Given the description of an element on the screen output the (x, y) to click on. 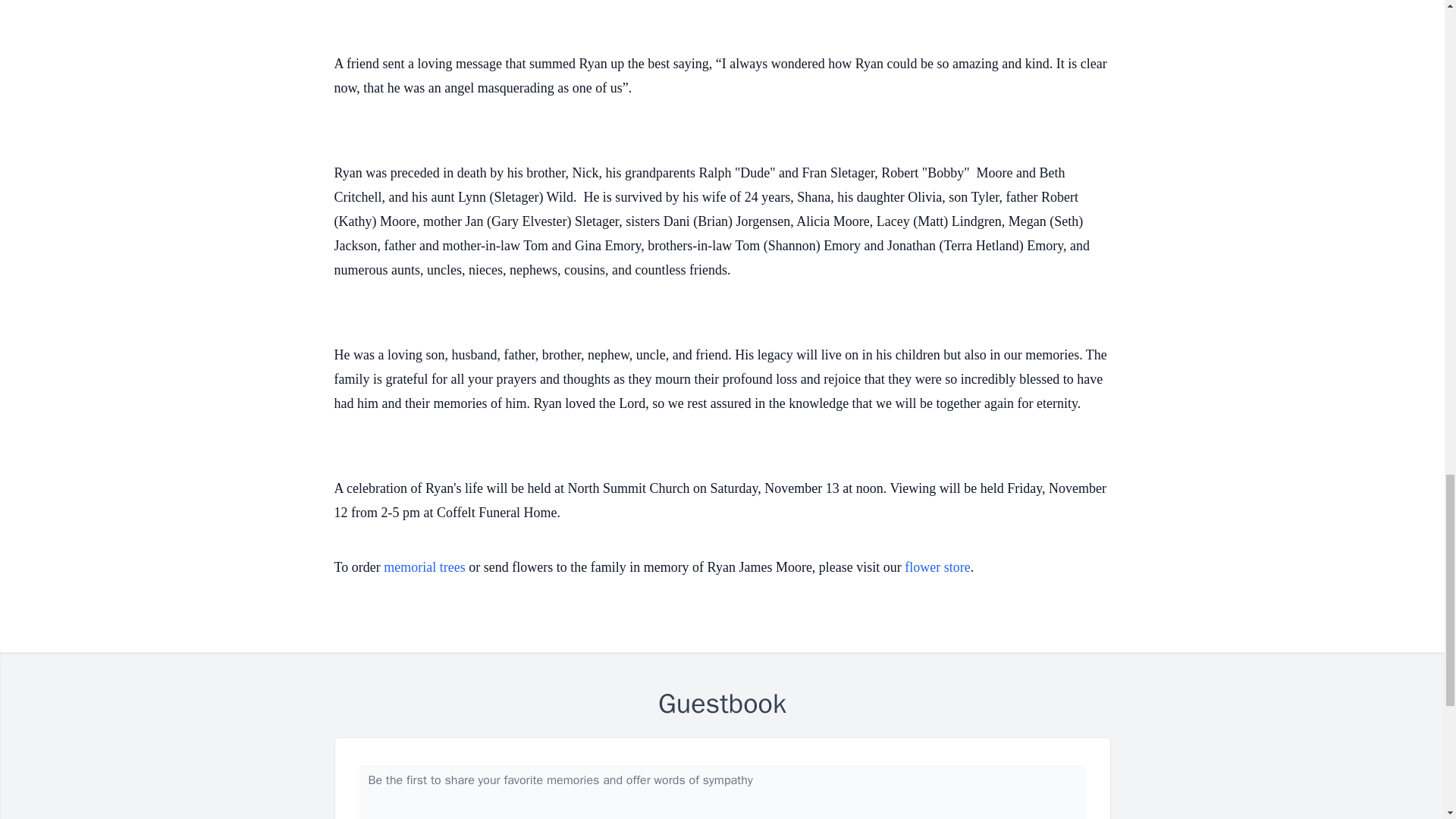
memorial trees (424, 566)
flower store (936, 566)
